Given the description of an element on the screen output the (x, y) to click on. 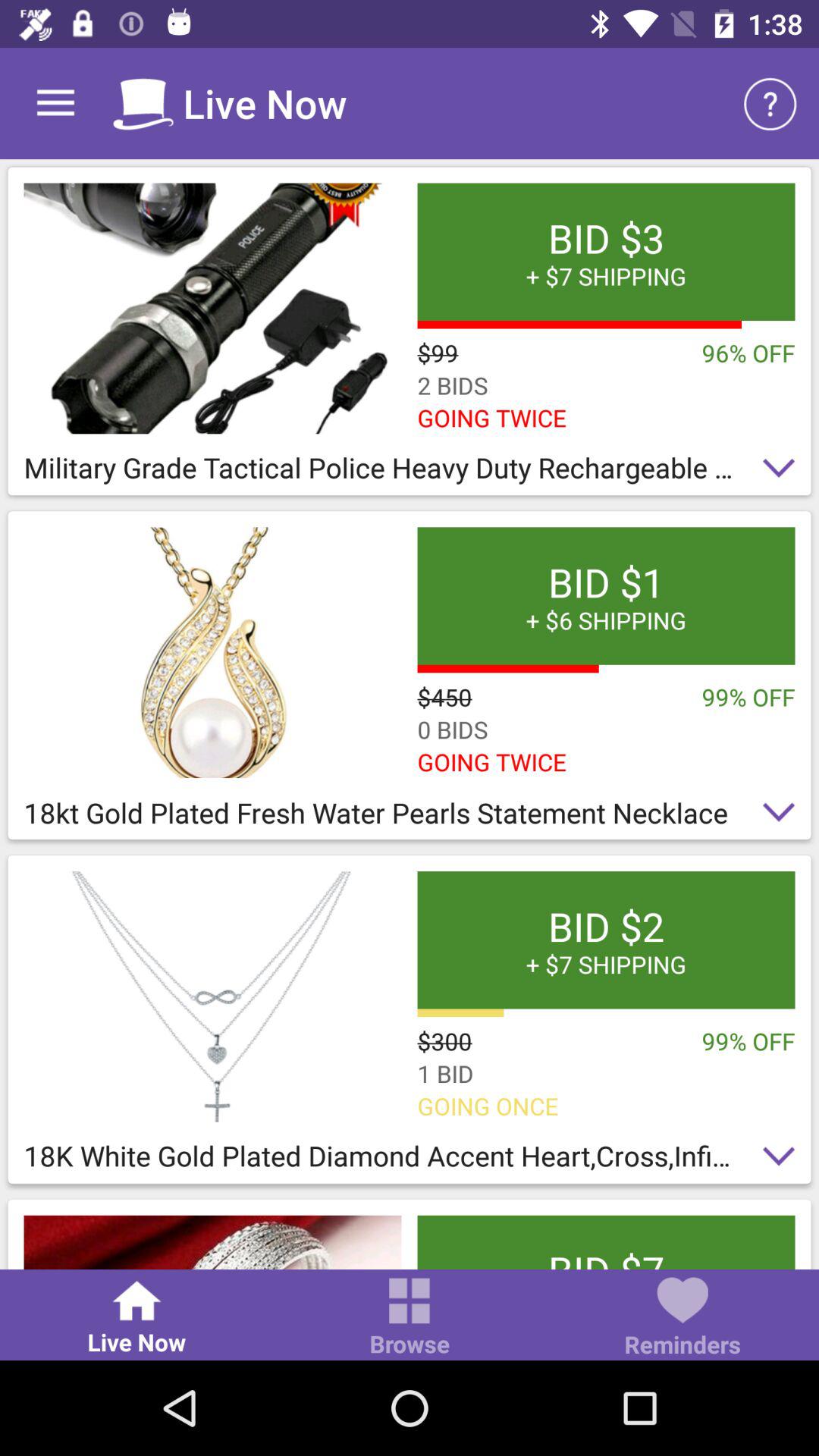
choose item to the right of the browse item (682, 1318)
